Given the description of an element on the screen output the (x, y) to click on. 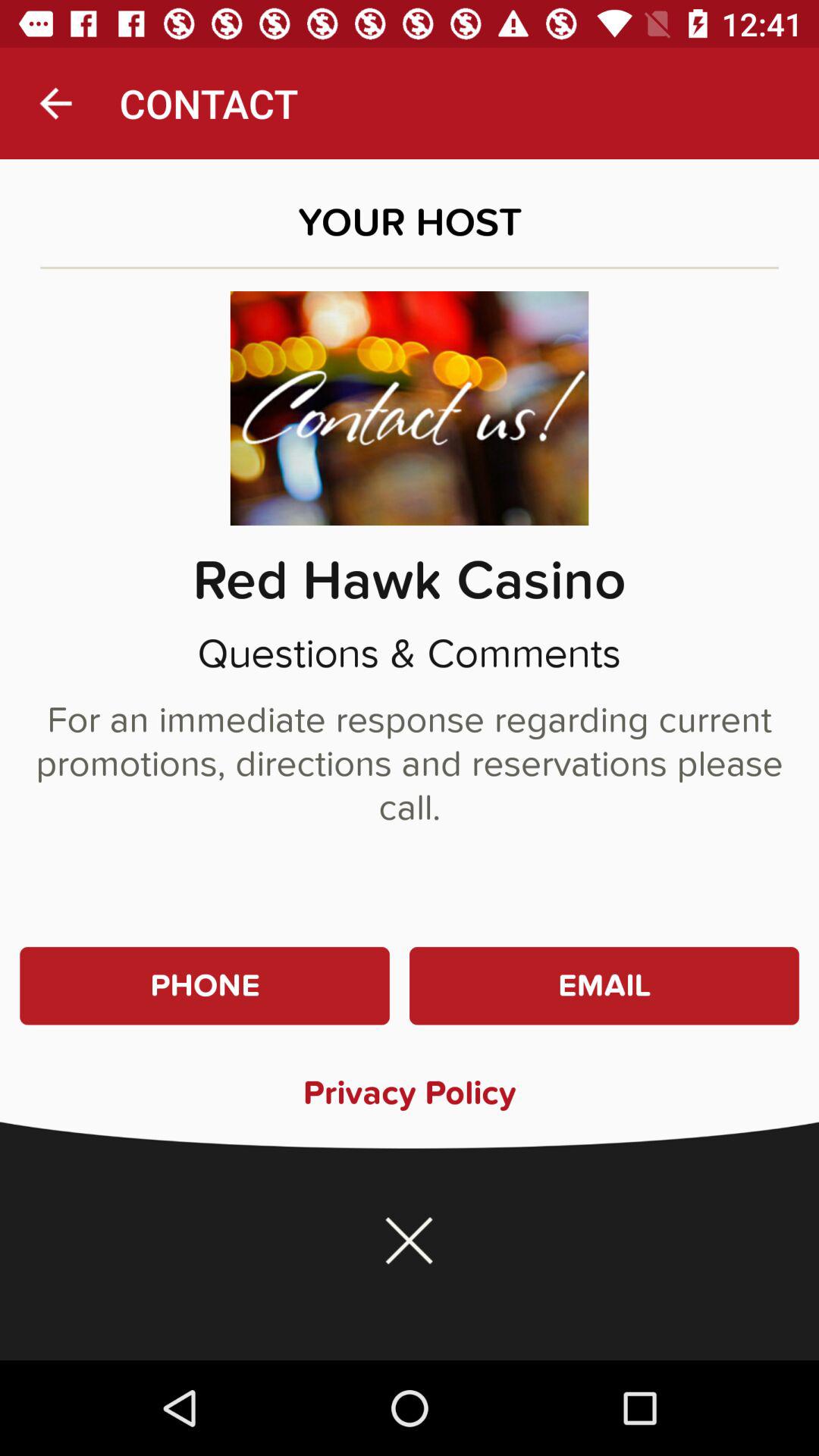
tap the icon to the right of phone icon (604, 985)
